Given the description of an element on the screen output the (x, y) to click on. 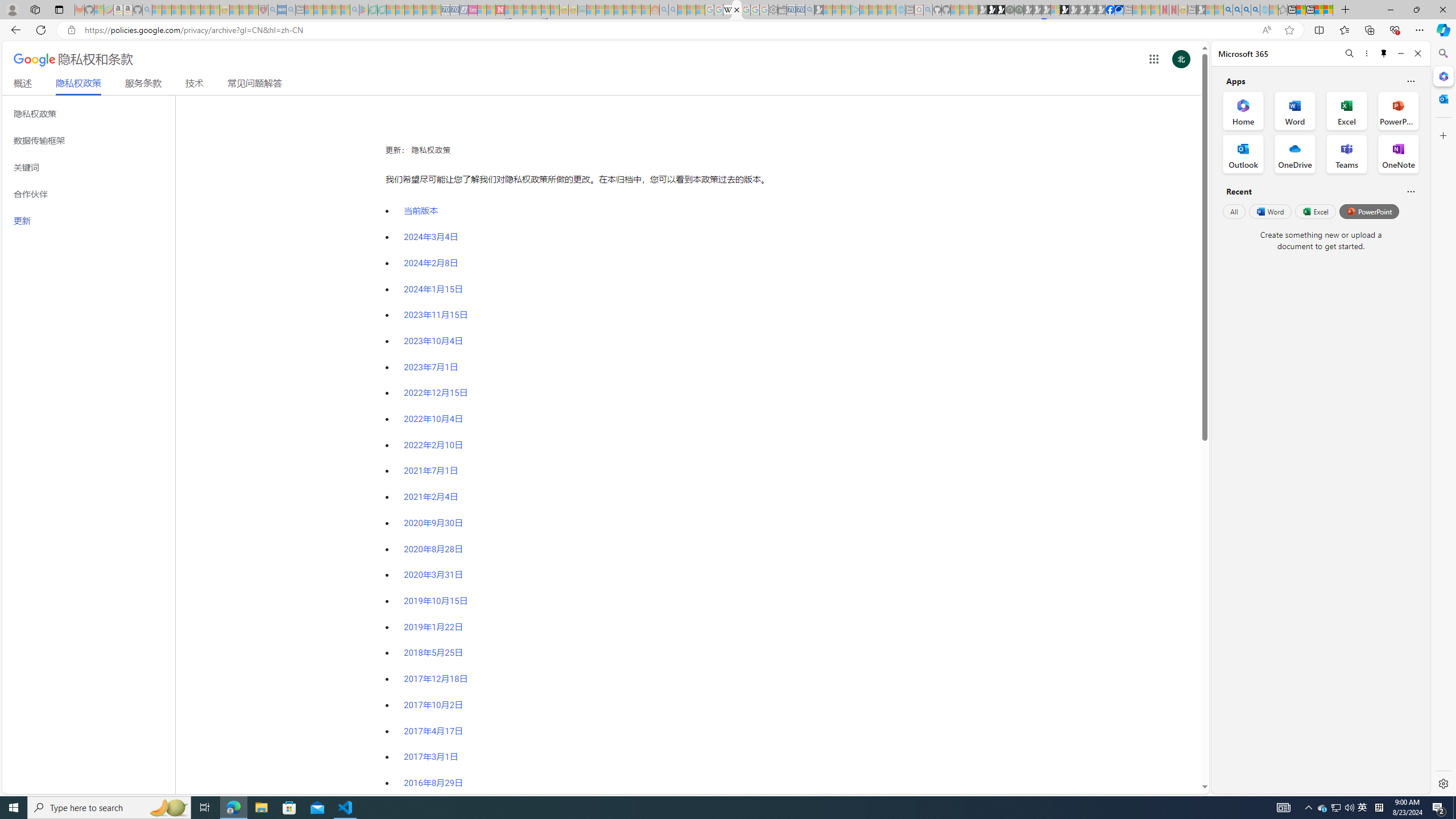
Is this helpful? (1410, 191)
Favorites - Sleeping (1283, 9)
